Given the description of an element on the screen output the (x, y) to click on. 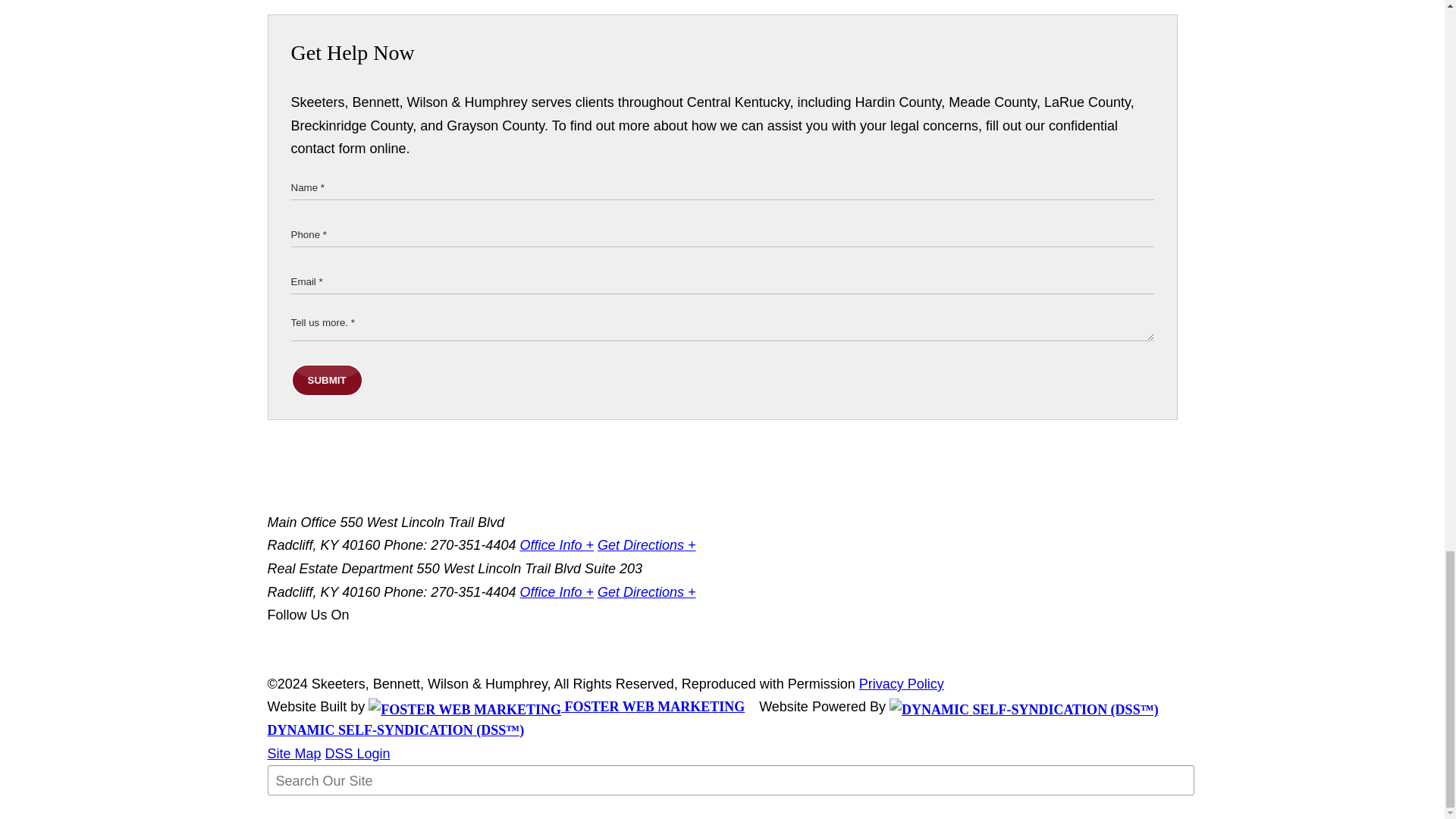
Search (304, 811)
